Given the description of an element on the screen output the (x, y) to click on. 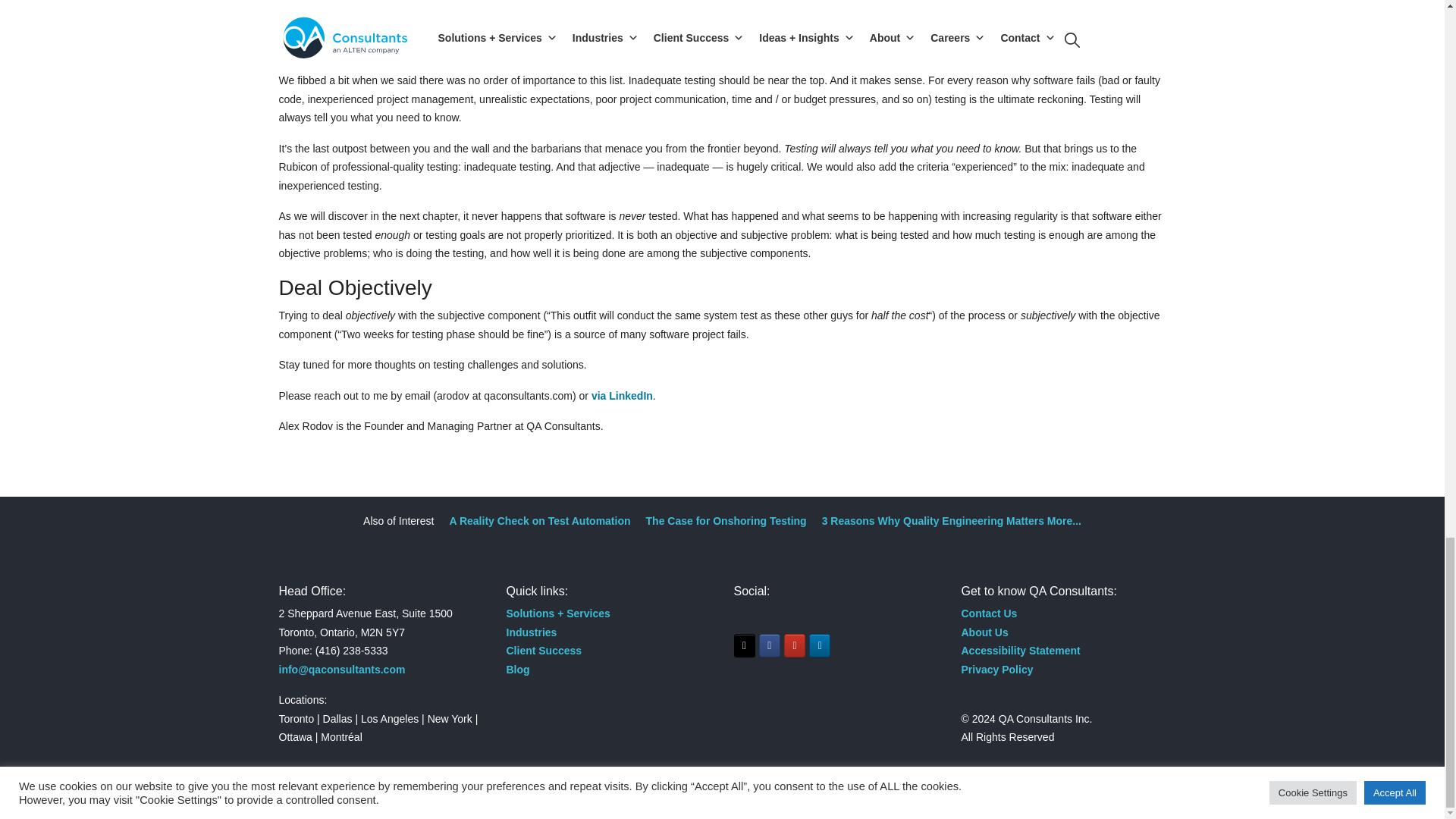
YouTube (794, 645)
QA Consultants on  (845, 644)
QA Consultants on Linkedin (819, 645)
Facebook (769, 645)
QA Consultants on X Twitter (744, 645)
